Given the description of an element on the screen output the (x, y) to click on. 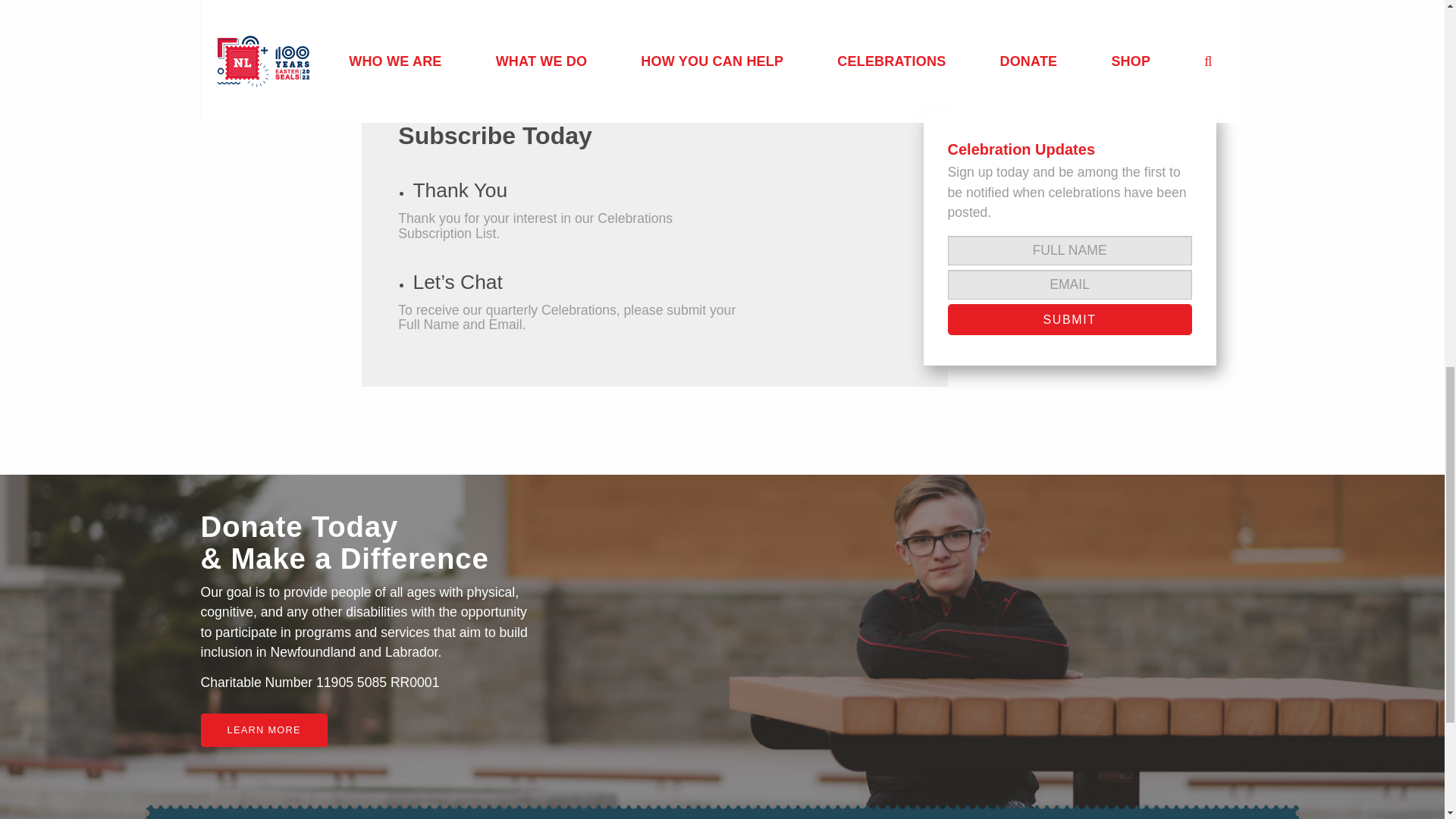
Submit (1069, 318)
